Given the description of an element on the screen output the (x, y) to click on. 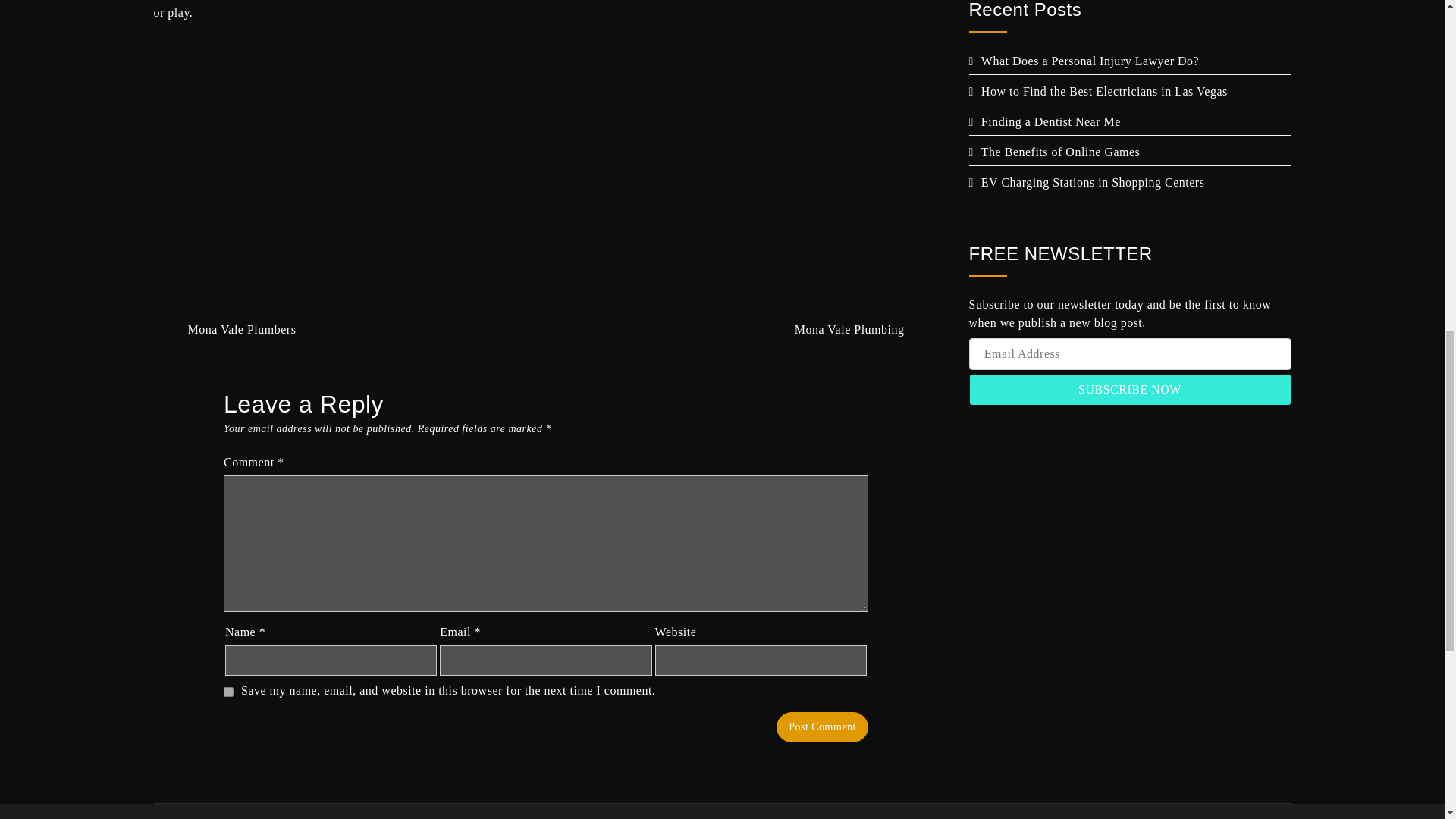
What Does a Personal Injury Lawyer Do? (1084, 60)
SUBSCRIBE NOW (1130, 389)
How to Find the Best Electricians in Las Vegas (1098, 91)
Finding a Dentist Near Me (1045, 121)
Mona Vale Plumbers (227, 328)
Post Comment (821, 726)
The Benefits of Online Games (1054, 151)
Mona Vale Plumbing (862, 328)
Post Comment (821, 726)
EV Charging Stations in Shopping Centers (1087, 182)
